Given the description of an element on the screen output the (x, y) to click on. 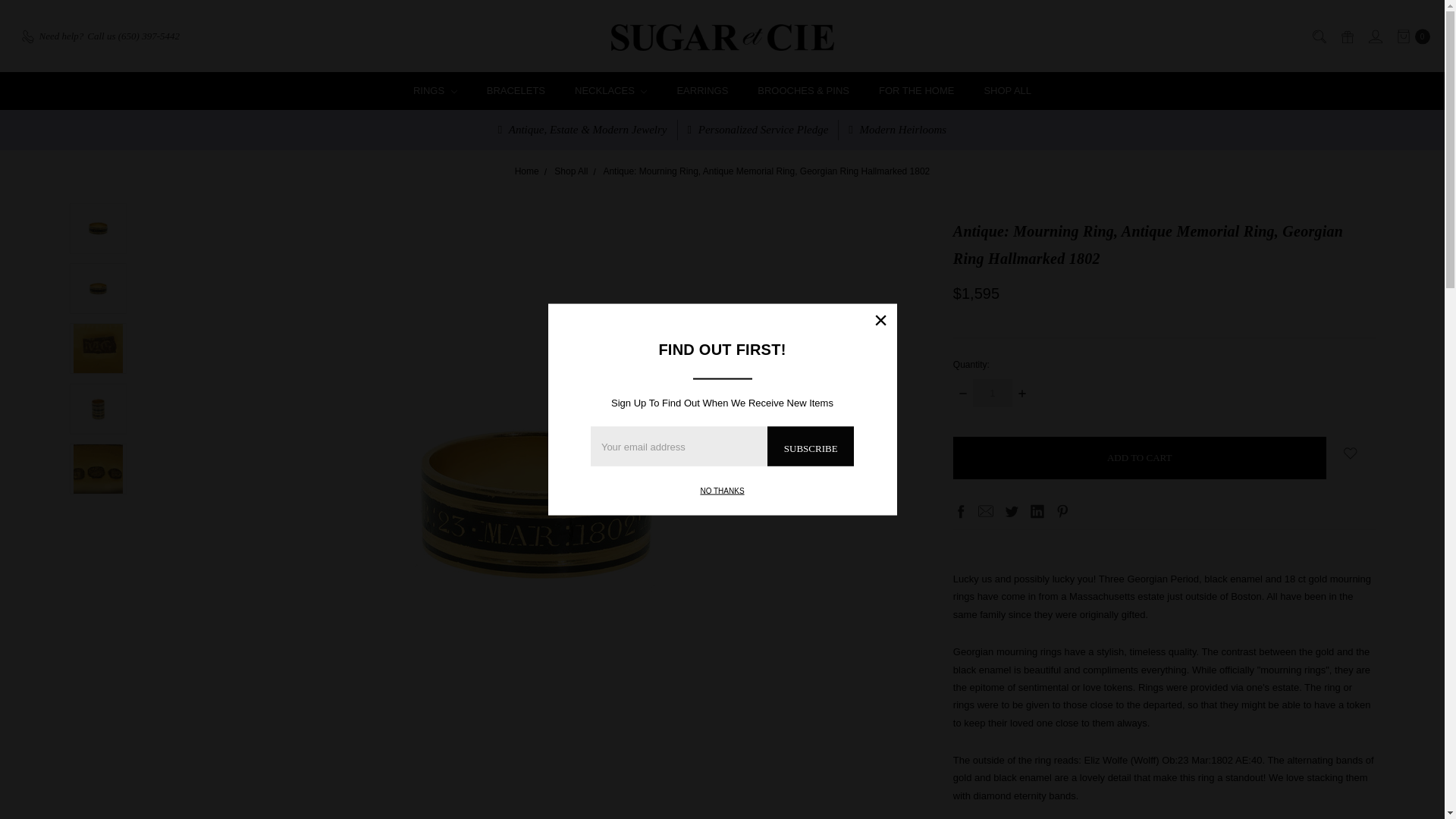
INCREASE QUANTITY: (1021, 393)
BRACELETS (515, 90)
Sugar et Cie (722, 37)
Georgian mourning ring hallmarks (97, 468)
EARRINGS (702, 90)
Antique Memorial Ring, Georgian Memorial Ring (97, 287)
1 (991, 393)
Shop All (571, 171)
NECKLACES (611, 90)
FOR THE HOME (915, 90)
0 (1409, 35)
Subscribe (810, 446)
DECREASE QUANTITY: (962, 393)
